Given the description of an element on the screen output the (x, y) to click on. 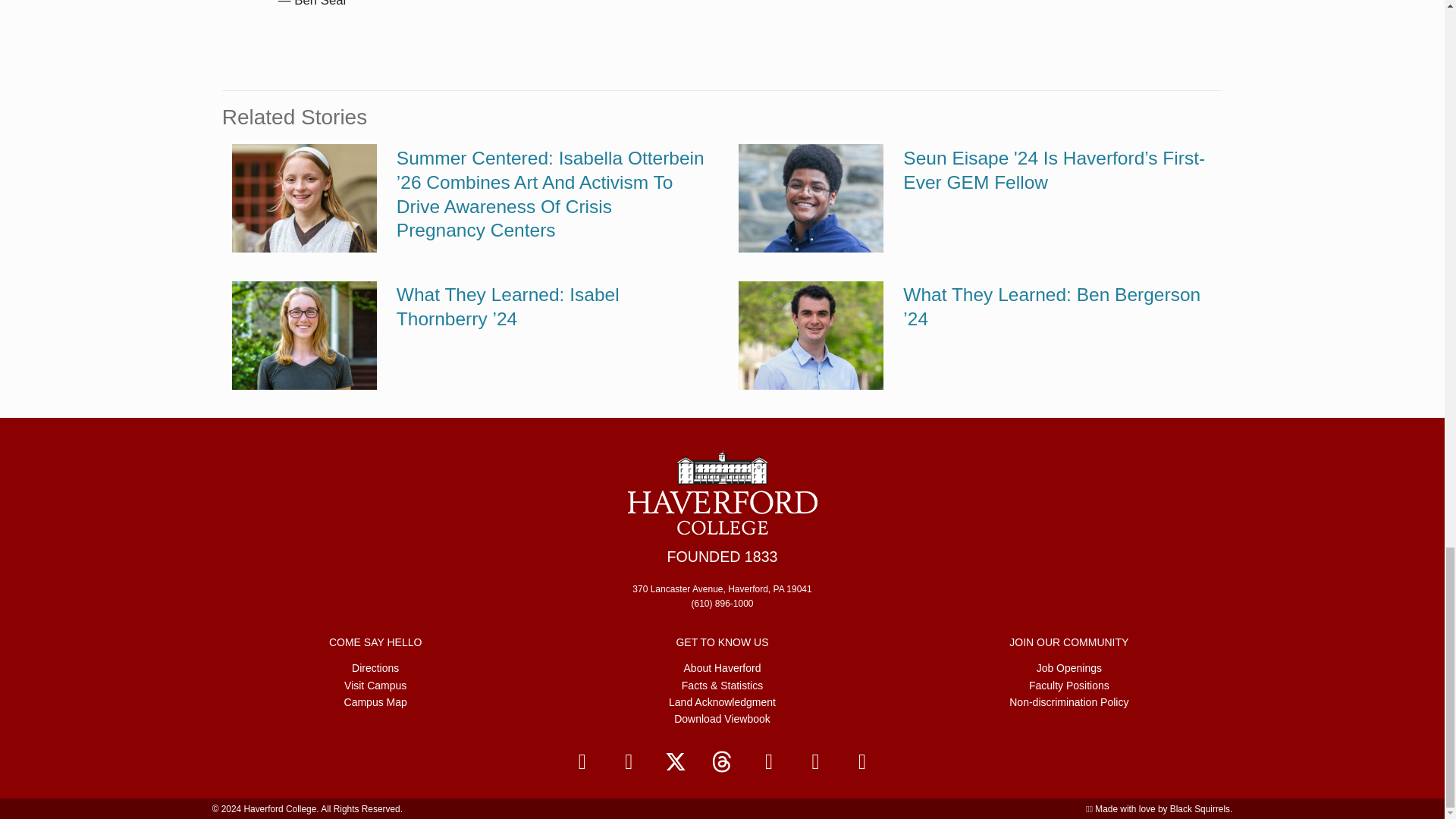
Faculty Positions (1069, 684)
Job Openings (1069, 667)
Directions (375, 667)
About Haverford (722, 667)
Visit Campus (374, 684)
Non-discrimination Policy (1068, 702)
Campus Map (375, 702)
Land Acknowledgment (722, 702)
Download Viewbook (722, 718)
